Given the description of an element on the screen output the (x, y) to click on. 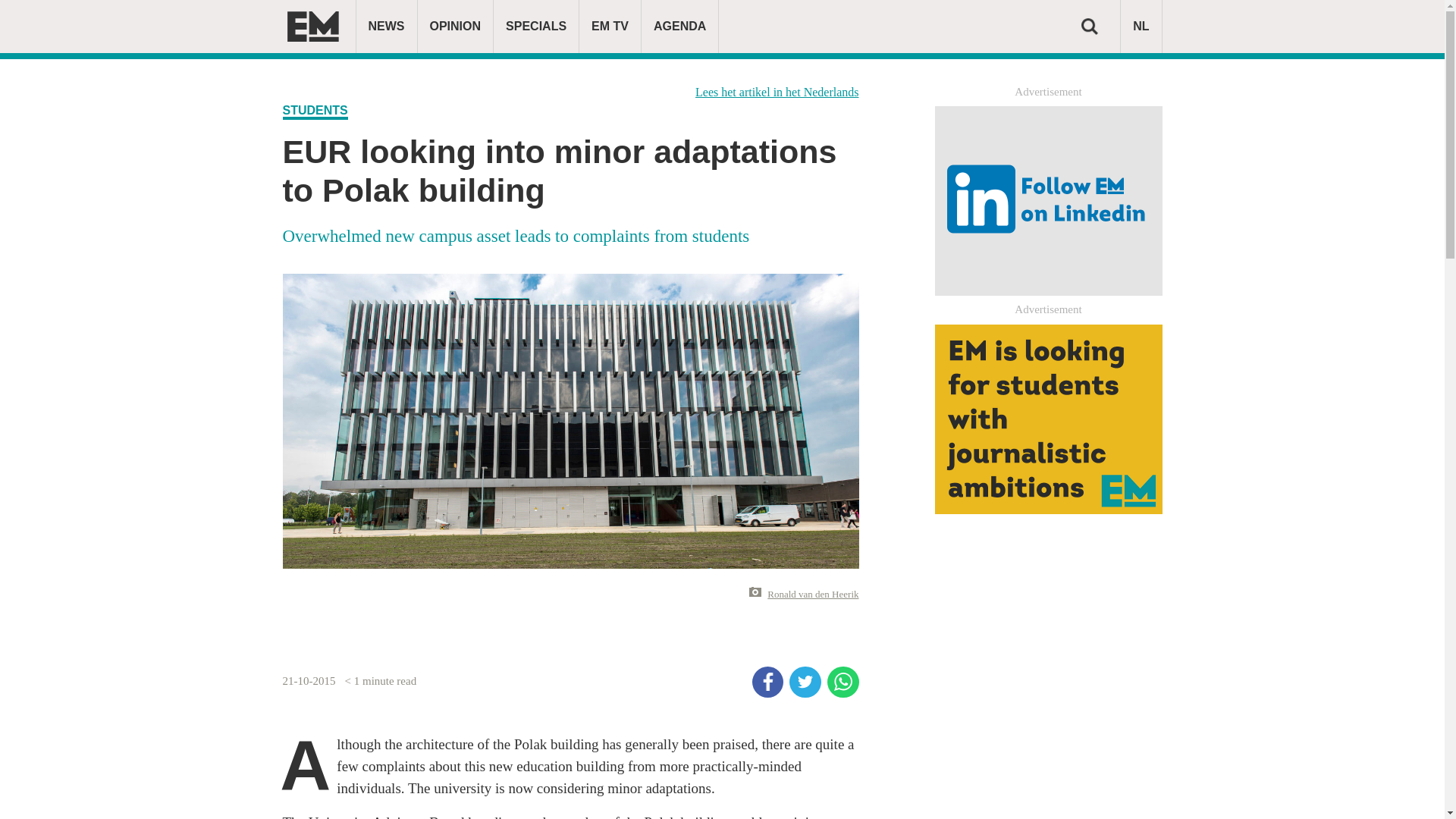
Ronald van den Heerik (813, 594)
Share (768, 682)
Share via WhatsApp (843, 682)
STUDENTS (314, 111)
AGENDA (679, 26)
Lees het artikel in het Nederlands (777, 91)
Erasmus Magazine (312, 26)
Search (1088, 26)
Tweet (805, 682)
SPECIALS (535, 26)
